Given the description of an element on the screen output the (x, y) to click on. 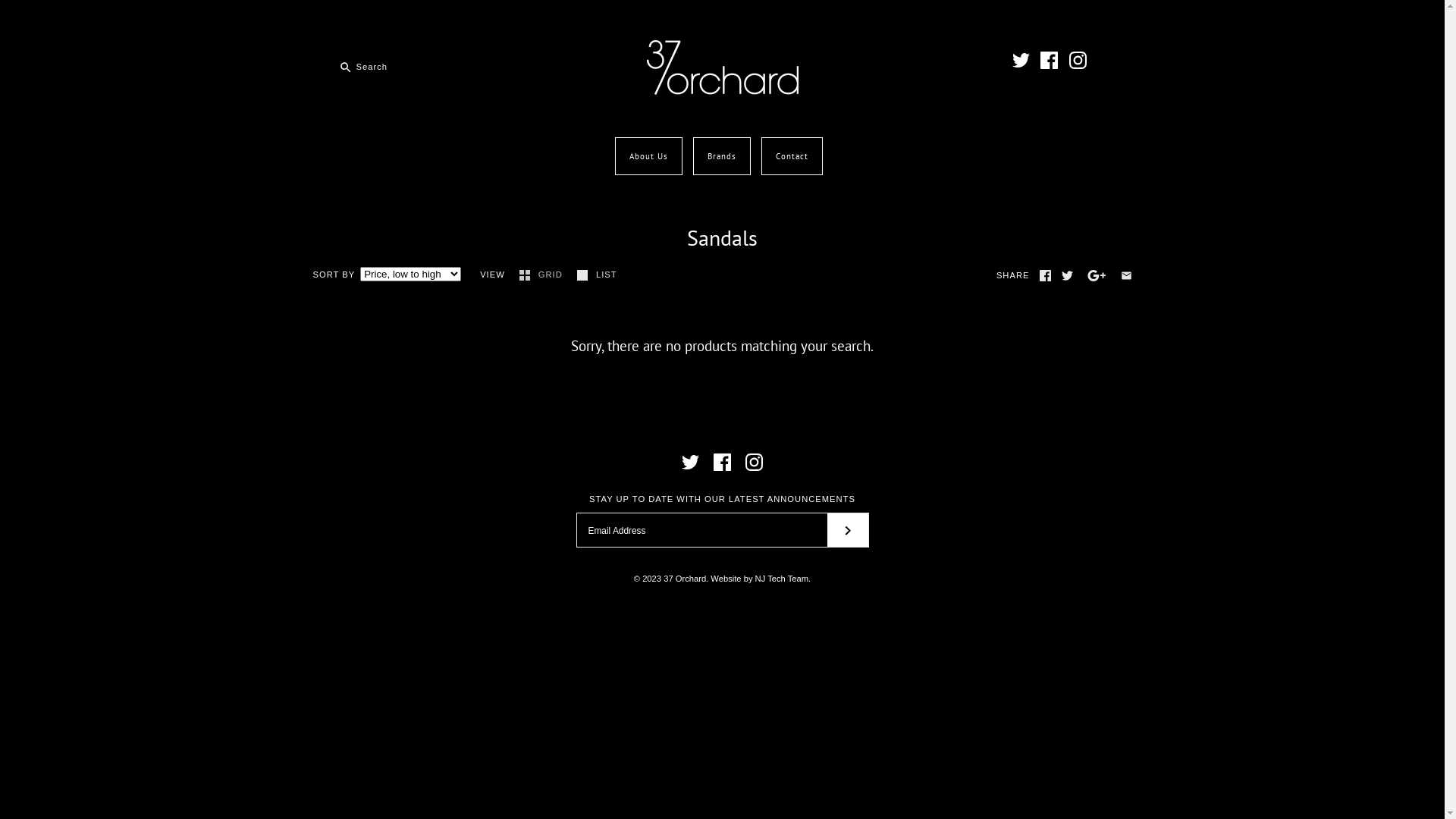
Facebook Element type: text (1048, 60)
37 Orchard Element type: hover (721, 48)
37 Orchard Element type: text (684, 578)
GooglePlus Element type: text (1096, 275)
About Us Element type: text (648, 156)
Facebook Element type: text (1045, 275)
LIST Element type: text (597, 274)
Twitter Element type: text (690, 461)
Instagram Element type: text (753, 461)
RIGHT Element type: text (846, 529)
Email Element type: text (1126, 275)
Contact Element type: text (791, 156)
Twitter Element type: text (1020, 60)
Brands Element type: text (721, 156)
GRID Element type: text (542, 274)
Instagram Element type: text (1077, 60)
Facebook Element type: text (722, 461)
Twitter Element type: text (1067, 275)
NJ Tech Team Element type: text (781, 578)
